Given the description of an element on the screen output the (x, y) to click on. 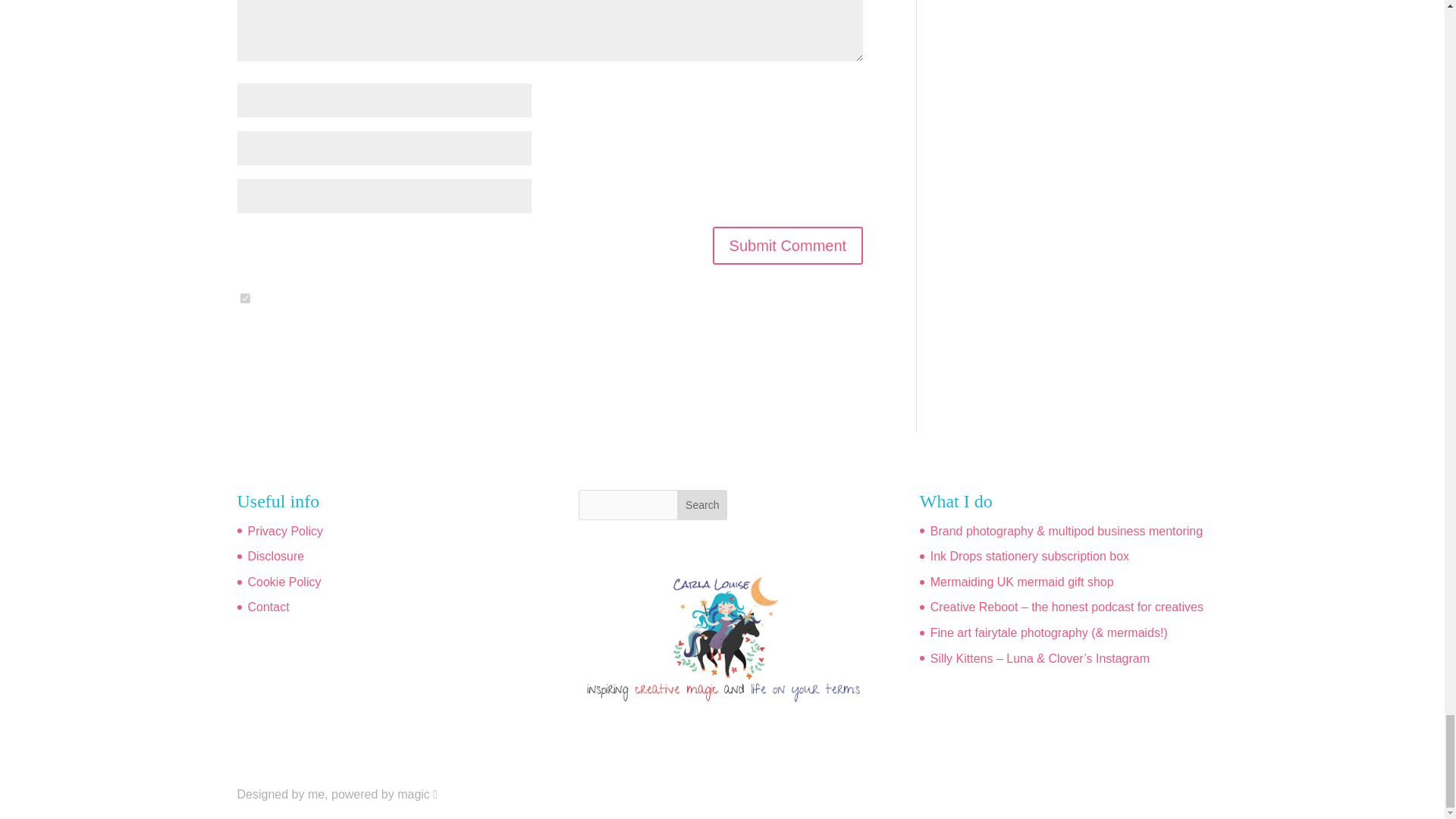
Submit Comment (788, 245)
on (244, 298)
